Given the description of an element on the screen output the (x, y) to click on. 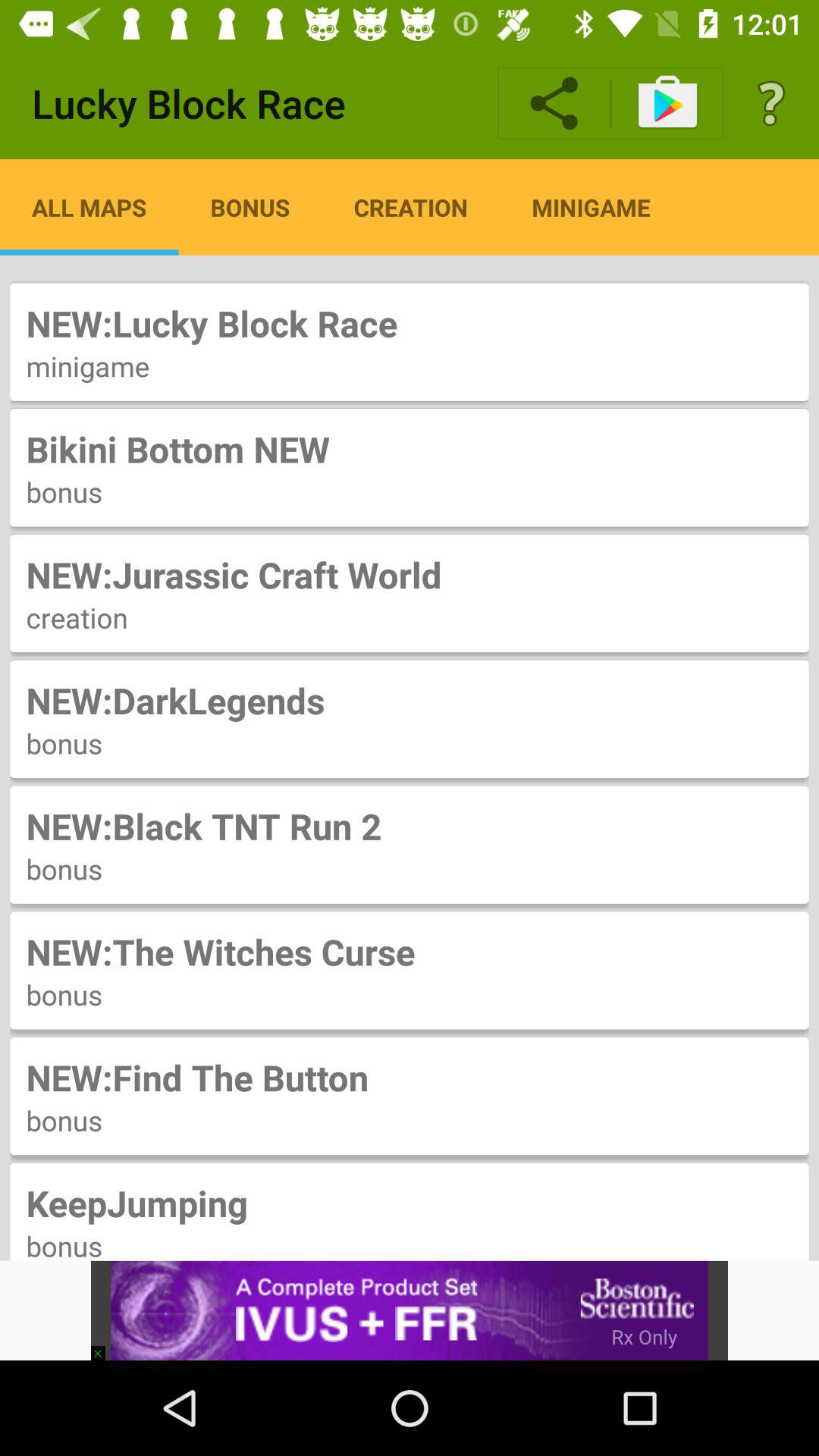
select item above the bonus (409, 448)
